Given the description of an element on the screen output the (x, y) to click on. 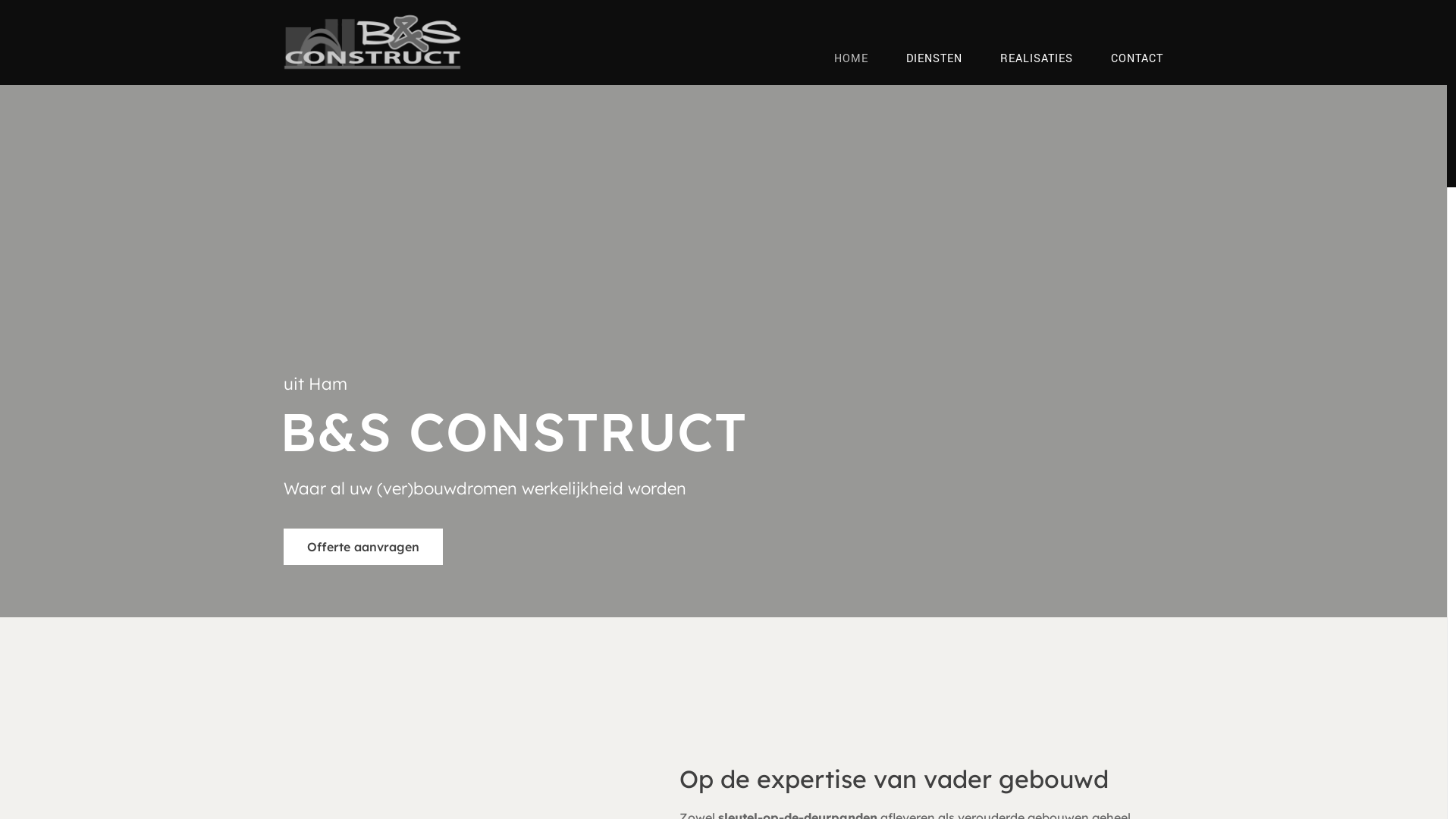
CONTACT Element type: text (1136, 58)
DIENSTEN Element type: text (934, 58)
Offerte aanvragen Element type: text (362, 546)
HOME Element type: text (851, 58)
REALISATIES Element type: text (1036, 58)
